Given the description of an element on the screen output the (x, y) to click on. 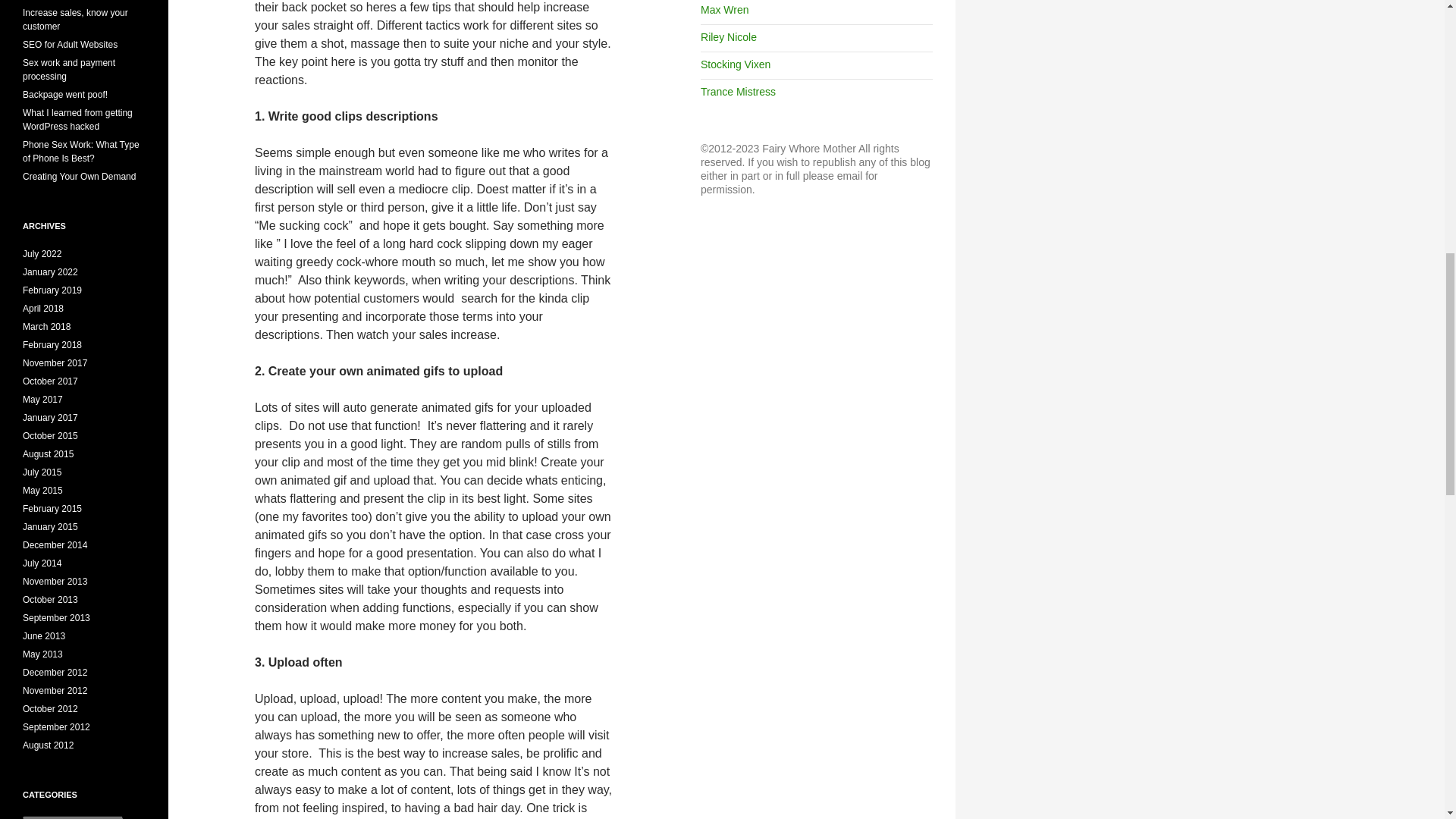
Max Wren (724, 9)
